Given the description of an element on the screen output the (x, y) to click on. 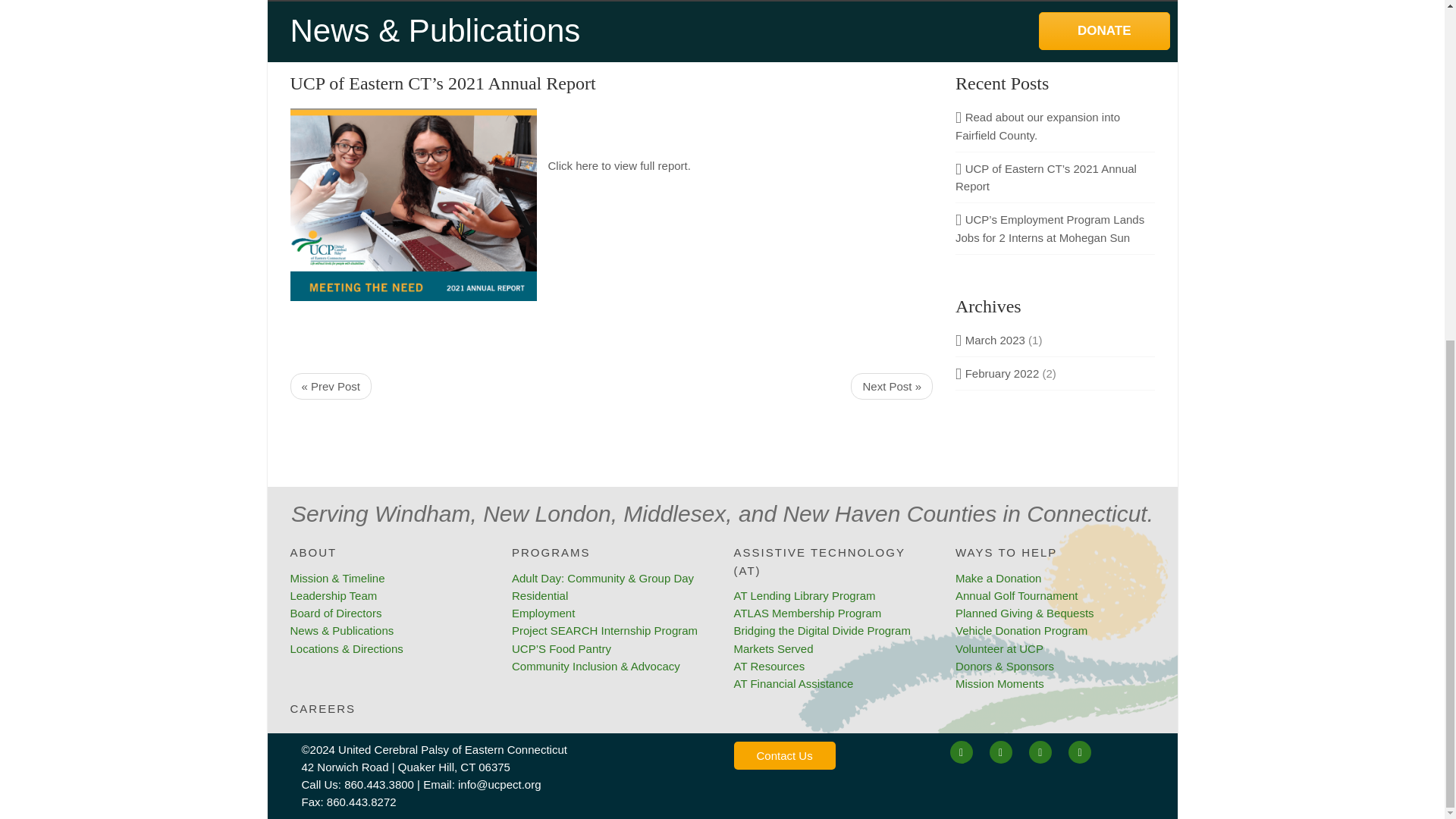
Donate (1104, 30)
